Given the description of an element on the screen output the (x, y) to click on. 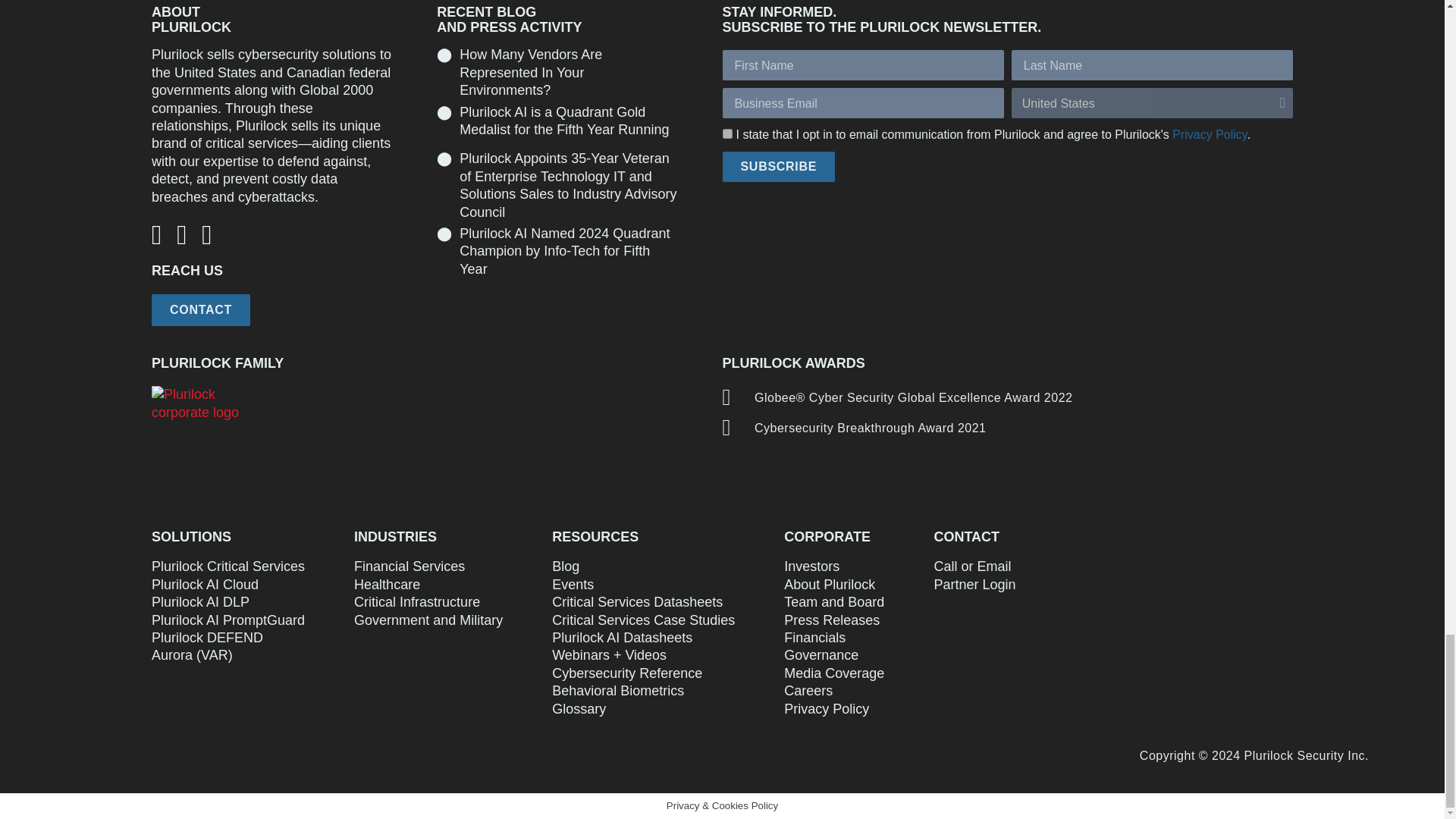
on (727, 133)
